Given the description of an element on the screen output the (x, y) to click on. 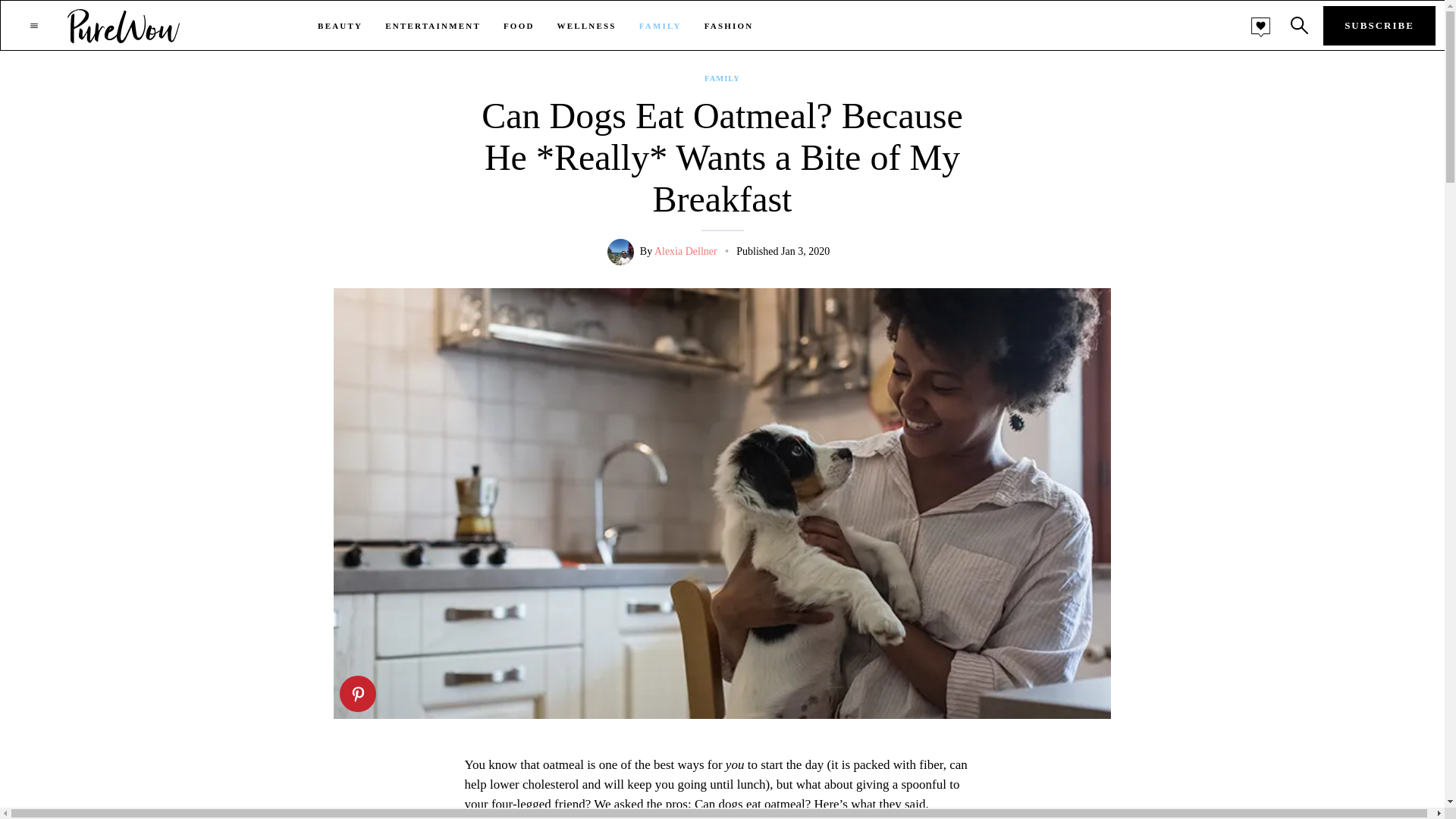
FAMILY (721, 78)
FOOD (518, 25)
ENTERTAINMENT (432, 25)
BEAUTY (339, 25)
Alexia Dellner (685, 251)
WELLNESS (586, 25)
FAMILY (660, 25)
PureWow (123, 25)
FASHION (729, 25)
SUBSCRIBE (1379, 25)
